Given the description of an element on the screen output the (x, y) to click on. 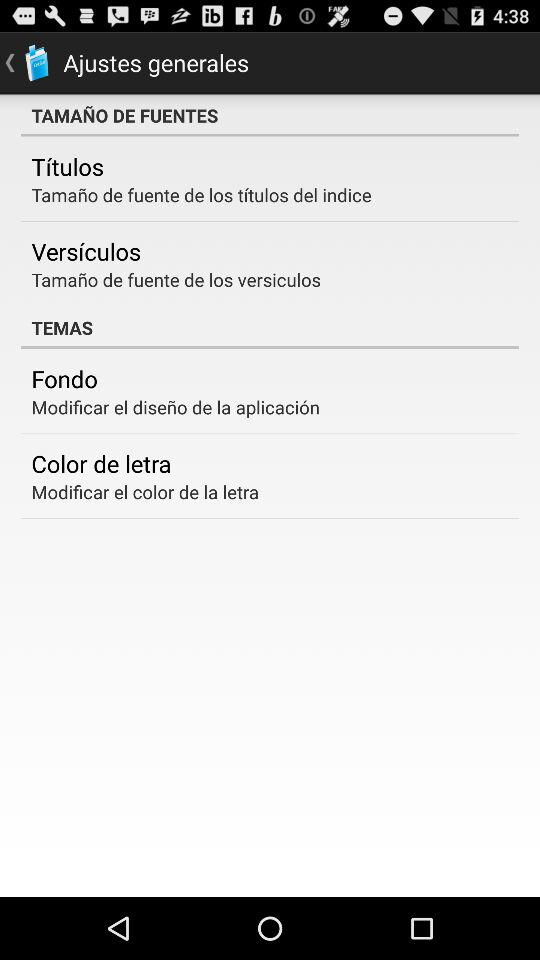
swipe to fondo app (64, 378)
